Given the description of an element on the screen output the (x, y) to click on. 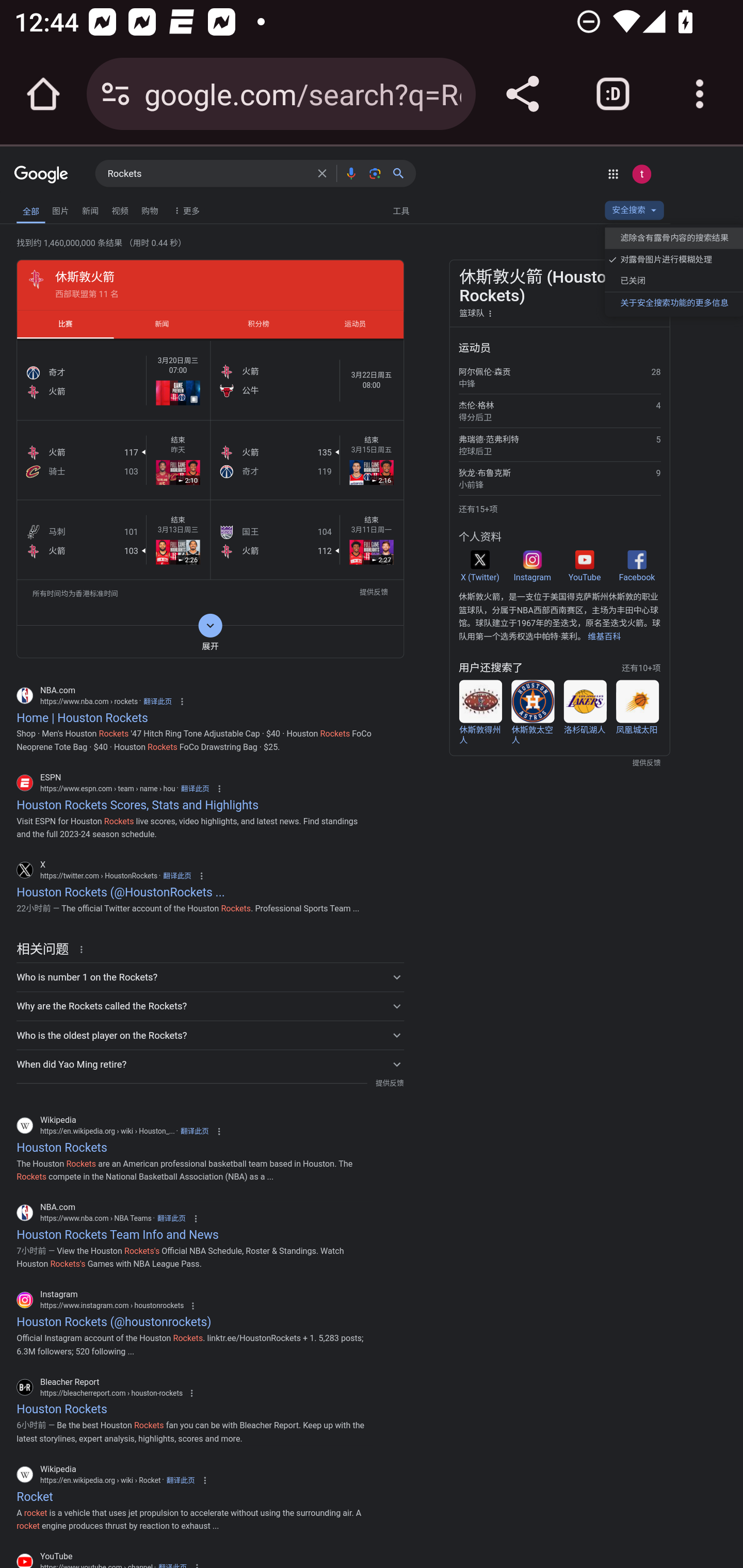
Open the home page (43, 93)
Connection is secure (115, 93)
Share (522, 93)
Switch or close tabs (612, 93)
Customize and control Google Chrome (699, 93)
清除 (321, 172)
按语音搜索 (350, 172)
按图搜索 (374, 172)
搜索 (402, 172)
Google 应用 (612, 173)
Google 账号： test appium (testappium002@gmail.com) (641, 173)
Google (41, 175)
Rockets (207, 173)
无障碍功能反馈 (38, 206)
图片 (60, 209)
新闻 (89, 209)
视频 (119, 209)
购物 (149, 209)
更多 (184, 209)
安全搜索 (634, 212)
工具 (400, 209)
滤除含有露骨内容的搜索结果 (673, 238)
对露骨图片进行模糊处理, 已选择 (673, 260)
休斯敦火箭 西部联盟第 11 名 休斯敦火箭 西部联盟第 11 名 (210, 284)
已关闭 (673, 280)
关于安全搜索功能的更多信息 (673, 302)
比赛 (64, 323)
新闻 (161, 323)
积分榜 (258, 323)
运动员 (355, 323)
提供反馈 (373, 594)
展开 (210, 641)
翻译此页 (157, 700)
翻译此页 (194, 788)
翻译此页 (176, 875)
关于这条结果的详细信息 (83, 948)
Who is number 1 on the Rockets? (210, 977)
Why are the Rockets called the Rockets? (210, 1005)
Who is the oldest player on the Rockets? (210, 1035)
When did Yao Ming retire? (210, 1063)
提供反馈 (389, 1083)
翻译此页 (193, 1130)
翻译此页 (170, 1218)
翻译此页 (179, 1478)
